Given the description of an element on the screen output the (x, y) to click on. 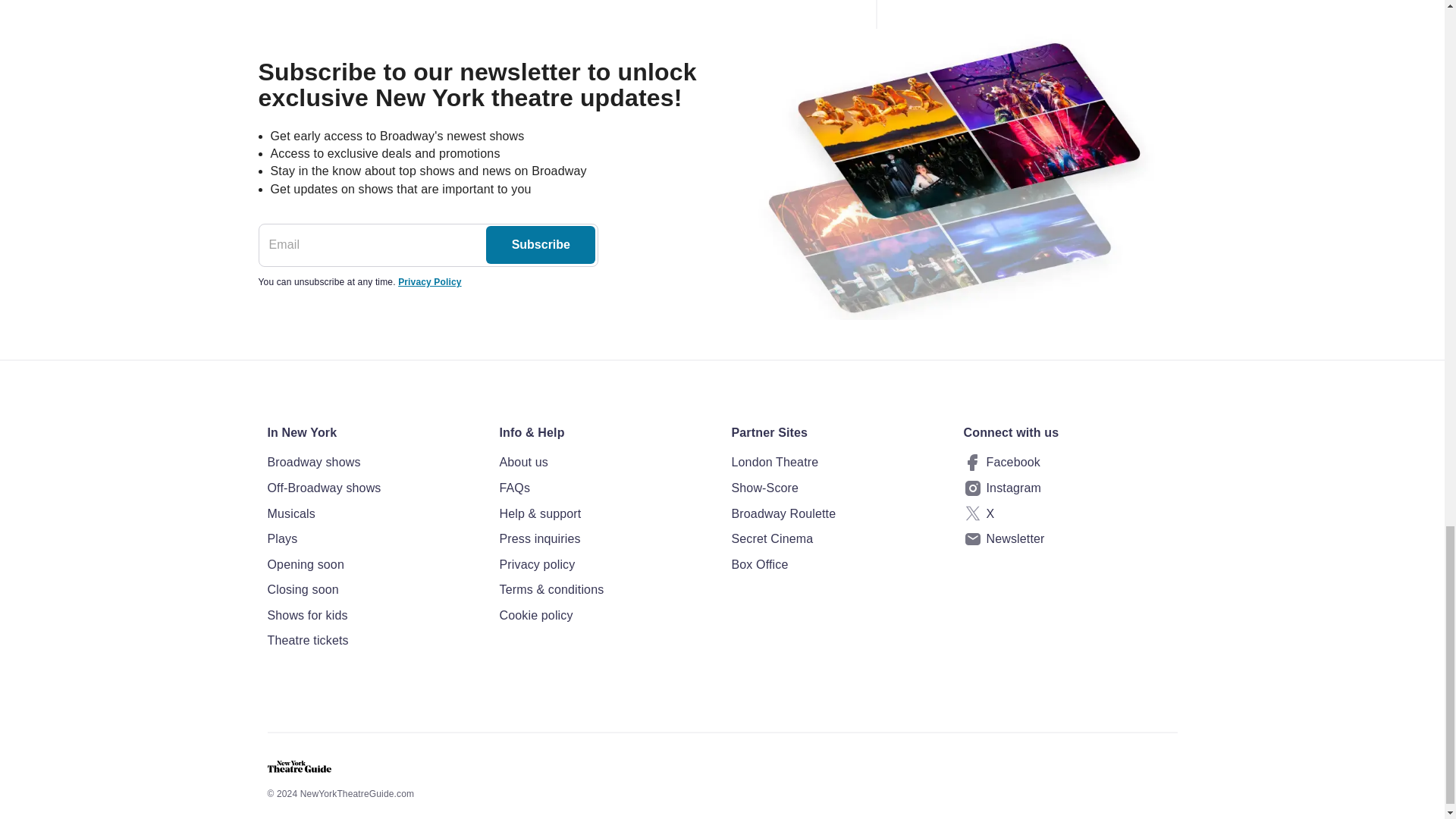
Opening soon (373, 564)
Off-Broadway shows (373, 487)
Closing soon (373, 589)
Shows for kids (373, 615)
Musicals (373, 514)
Broadway shows (373, 462)
Plays (373, 538)
